Given the description of an element on the screen output the (x, y) to click on. 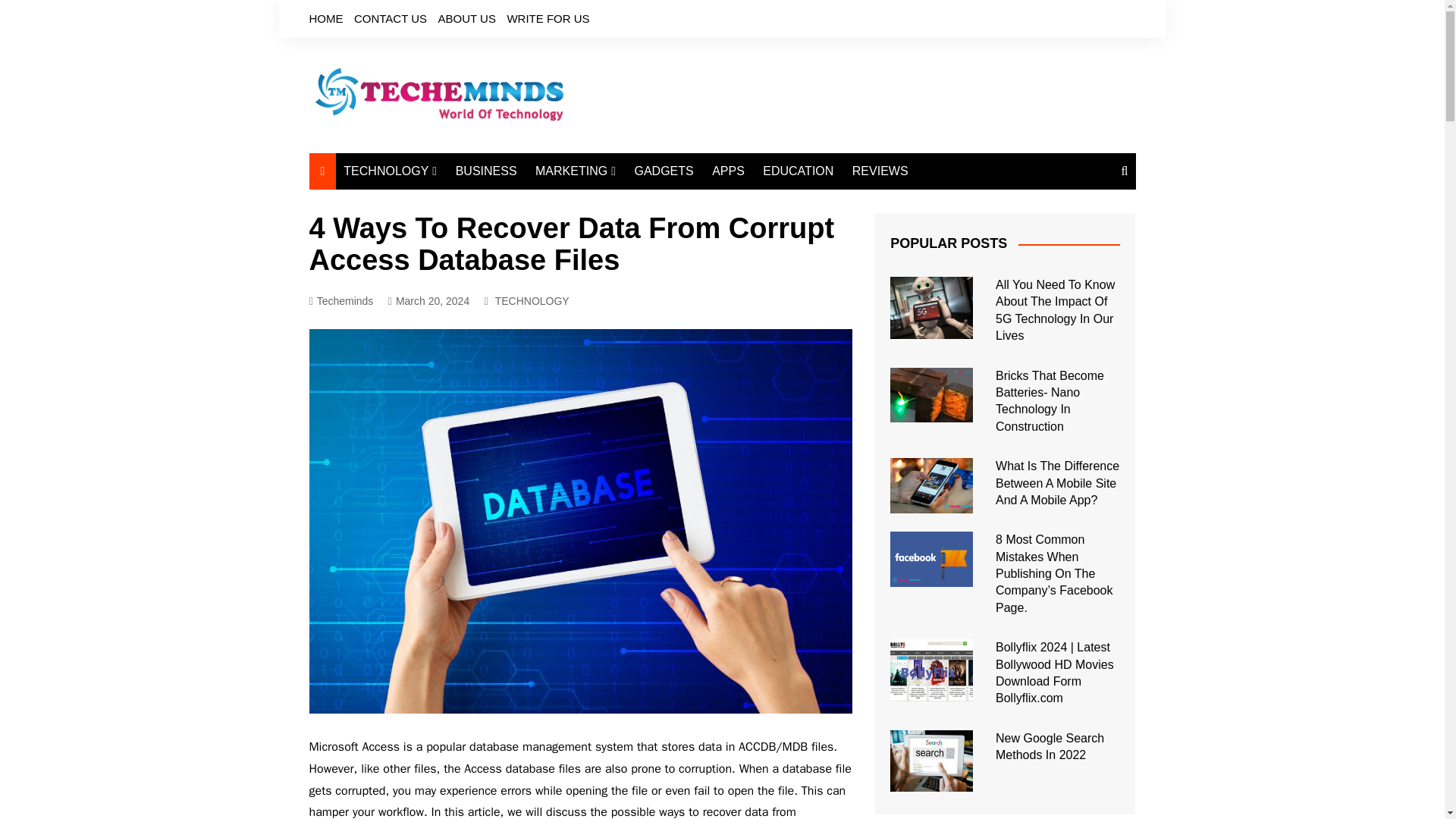
BLOCKCHAIN (419, 314)
REVIEWS (879, 171)
5G TECHNOLOGY (419, 264)
BIG DATA (419, 289)
March 20, 2024 (428, 301)
CONTACT US (389, 18)
APPS (728, 171)
DIGITAL MARKETING (610, 201)
MARKETING (575, 171)
WRITE FOR US (547, 18)
